Given the description of an element on the screen output the (x, y) to click on. 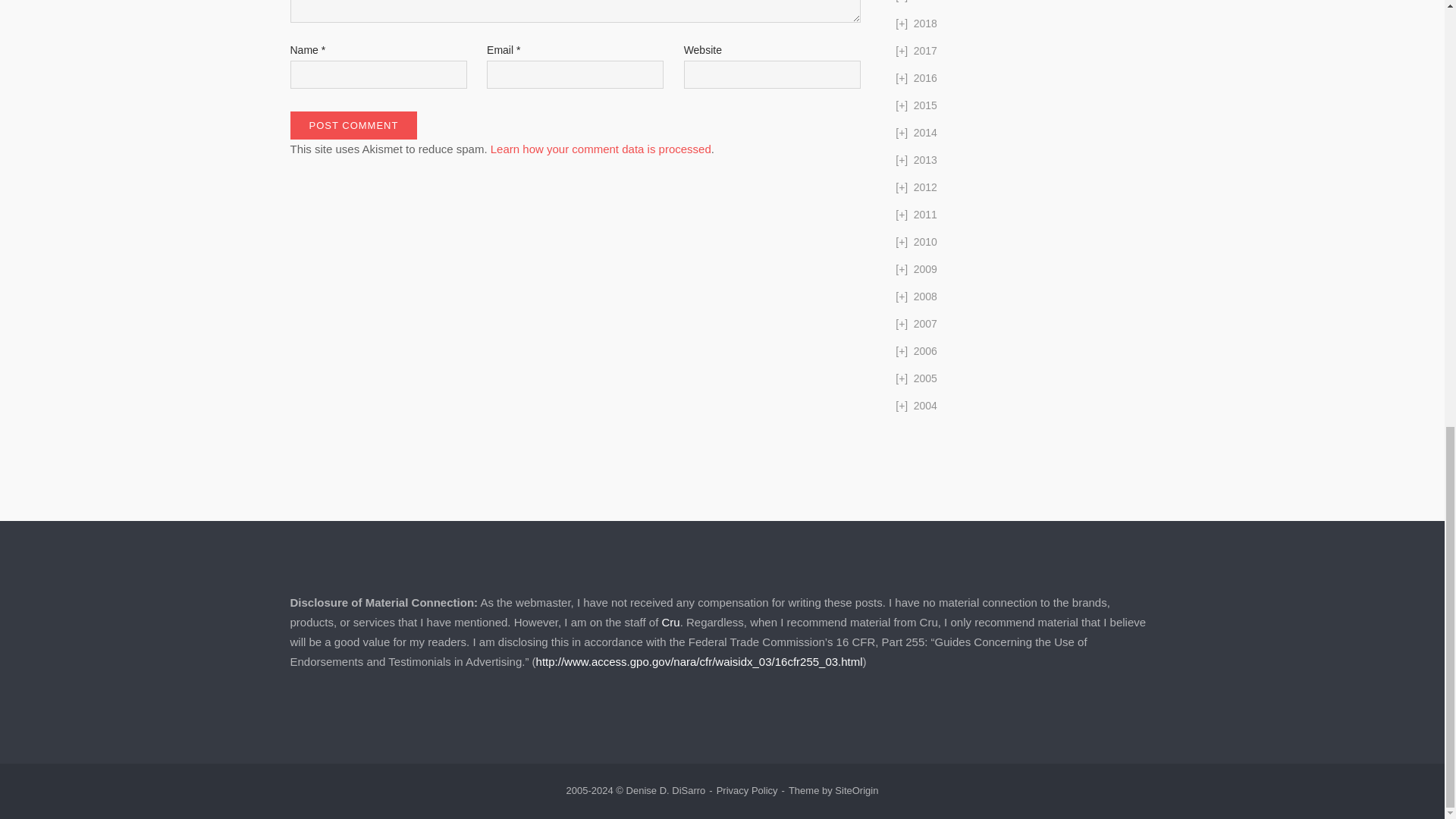
Post Comment (352, 125)
Learn how your comment data is processed (600, 148)
Post Comment (352, 125)
